Given the description of an element on the screen output the (x, y) to click on. 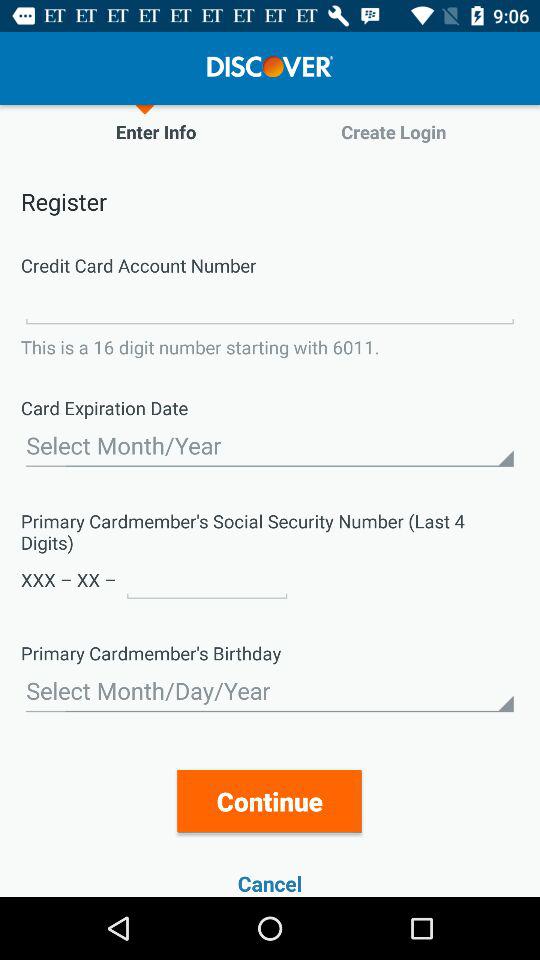
turn off item above cancel (269, 800)
